Given the description of an element on the screen output the (x, y) to click on. 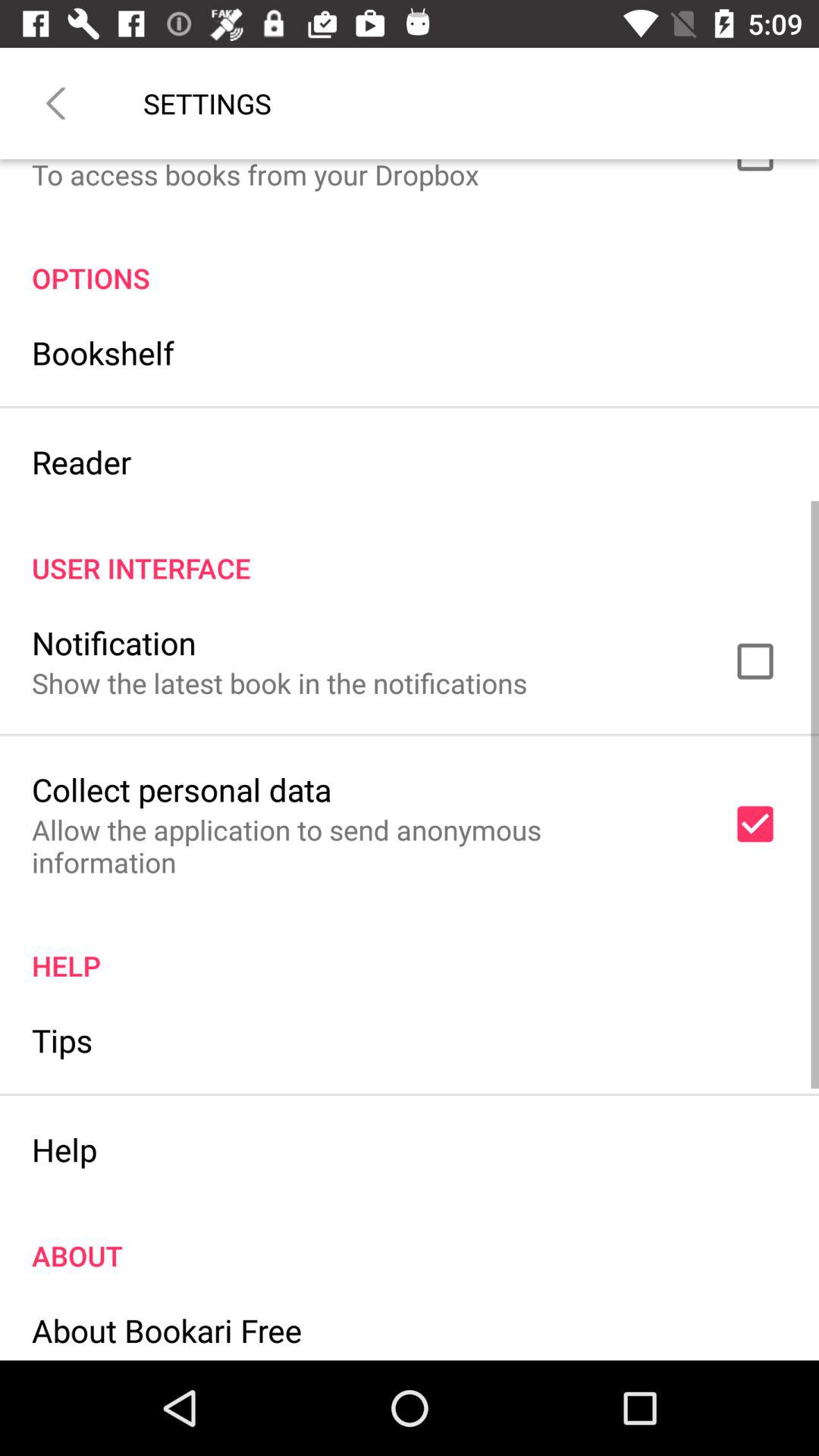
open item below the reader item (409, 551)
